Given the description of an element on the screen output the (x, y) to click on. 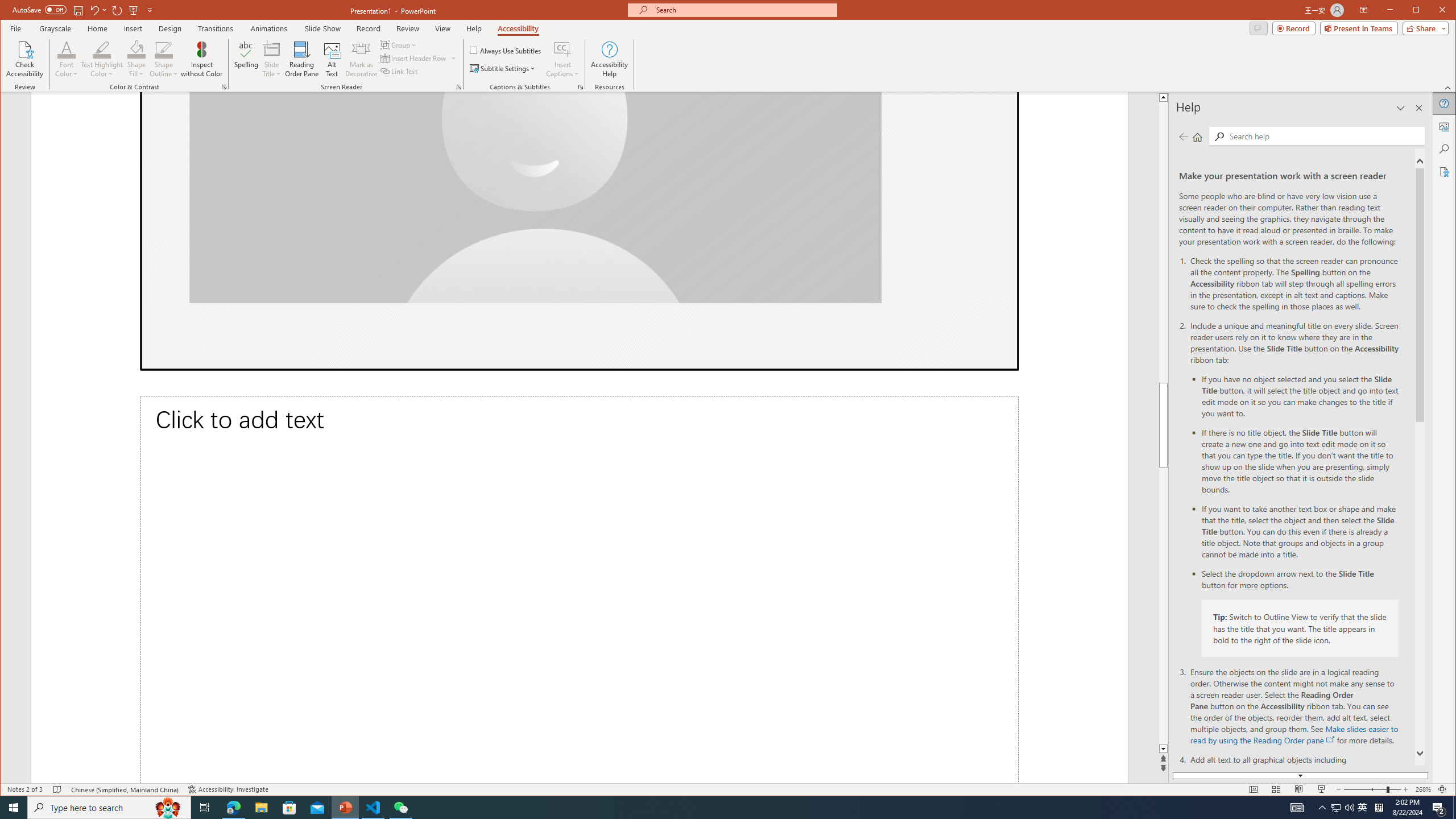
openinnewwindow (1330, 739)
Accessibility Help (608, 59)
Slide Title (271, 48)
